Given the description of an element on the screen output the (x, y) to click on. 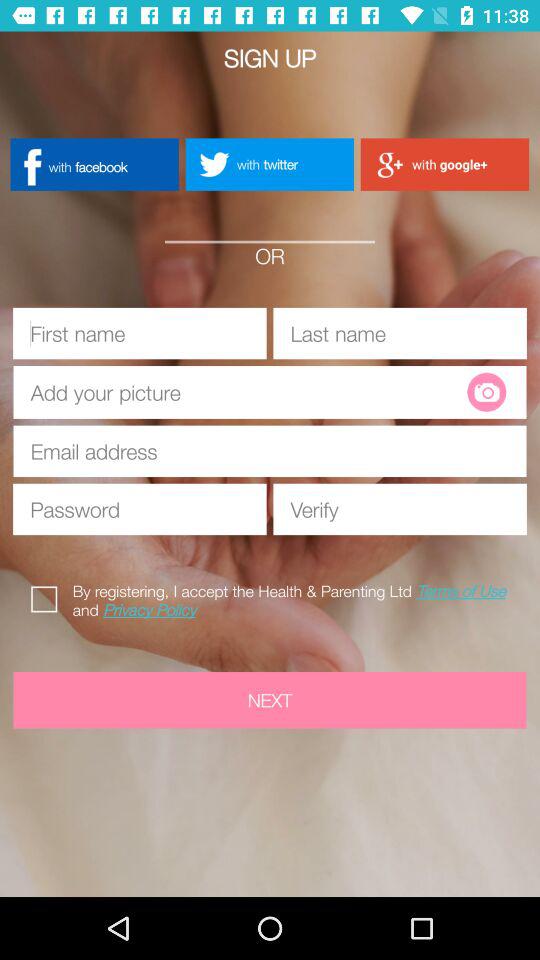
swipe until with google+ button (444, 164)
